Given the description of an element on the screen output the (x, y) to click on. 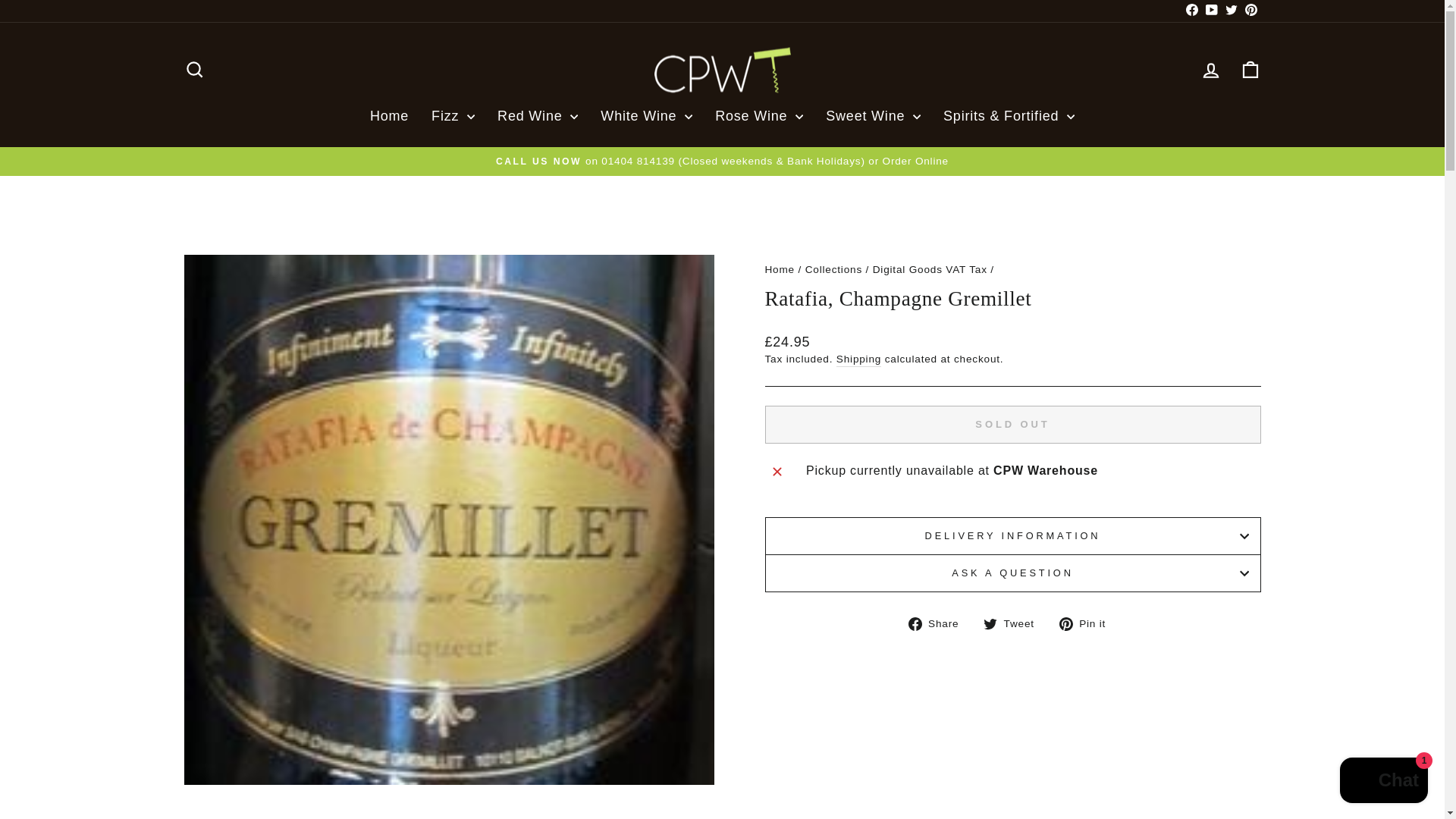
Share on Facebook (939, 623)
twitter (990, 623)
Pin on Pinterest (1087, 623)
Shopify online store chat (1383, 781)
icon-search (194, 69)
icon-bag-minimal (1249, 69)
Christopher Piper Wines Ltd on Facebook (1190, 11)
Christopher Piper Wines Ltd on Twitter (1230, 11)
Christopher Piper Wines Ltd on Pinterest (1250, 11)
Reviews Widget (721, 192)
Christopher Piper Wines Ltd on YouTube (1211, 11)
account (1210, 70)
Tweet on Twitter (1014, 623)
twitter (1231, 9)
Back to the frontpage (778, 269)
